Given the description of an element on the screen output the (x, y) to click on. 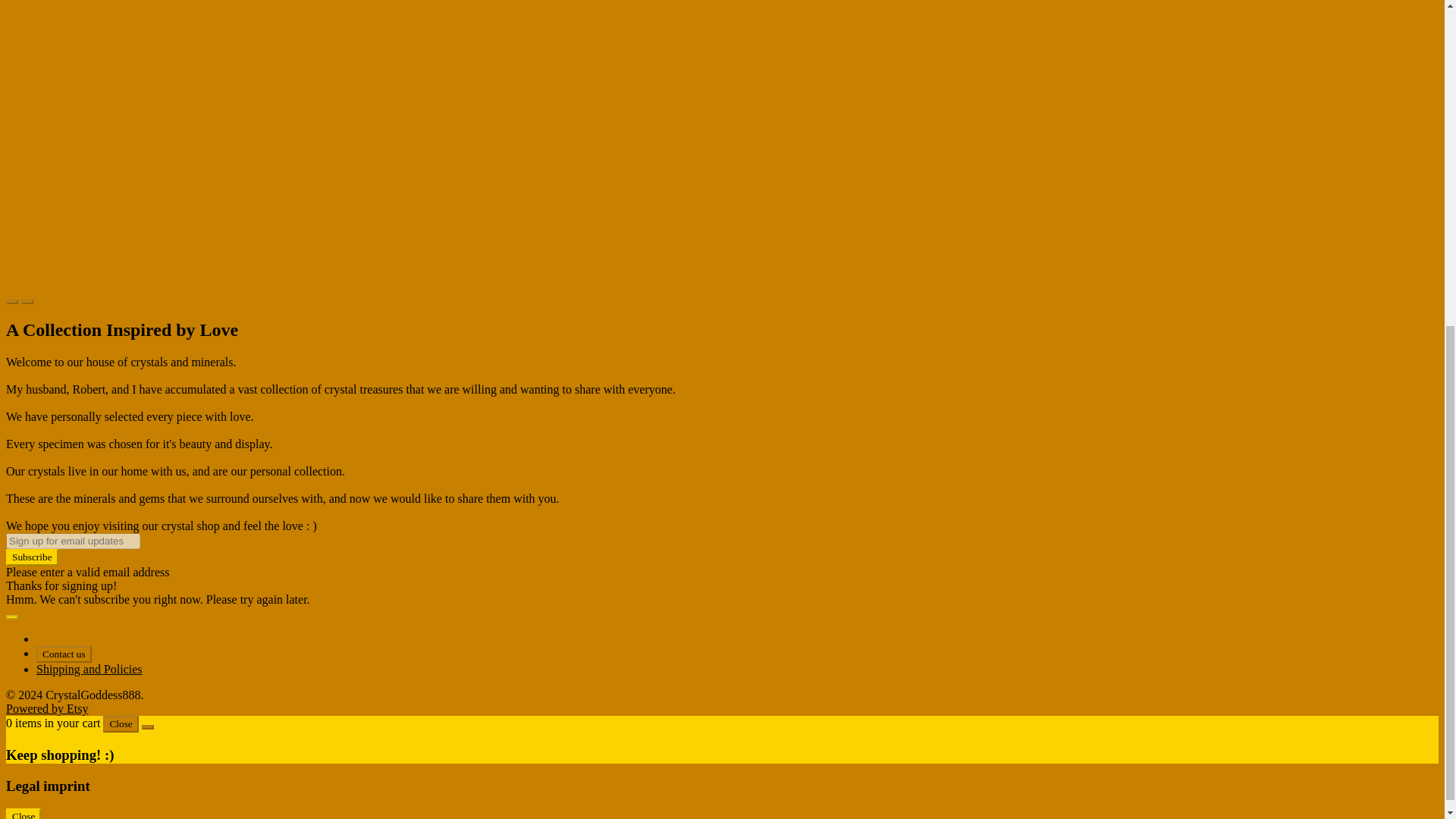
Subscribe (31, 556)
Subscribe (31, 556)
Close (120, 723)
Powered by Etsy (46, 707)
Shipping and Policies (89, 668)
Contact us (63, 654)
